Given the description of an element on the screen output the (x, y) to click on. 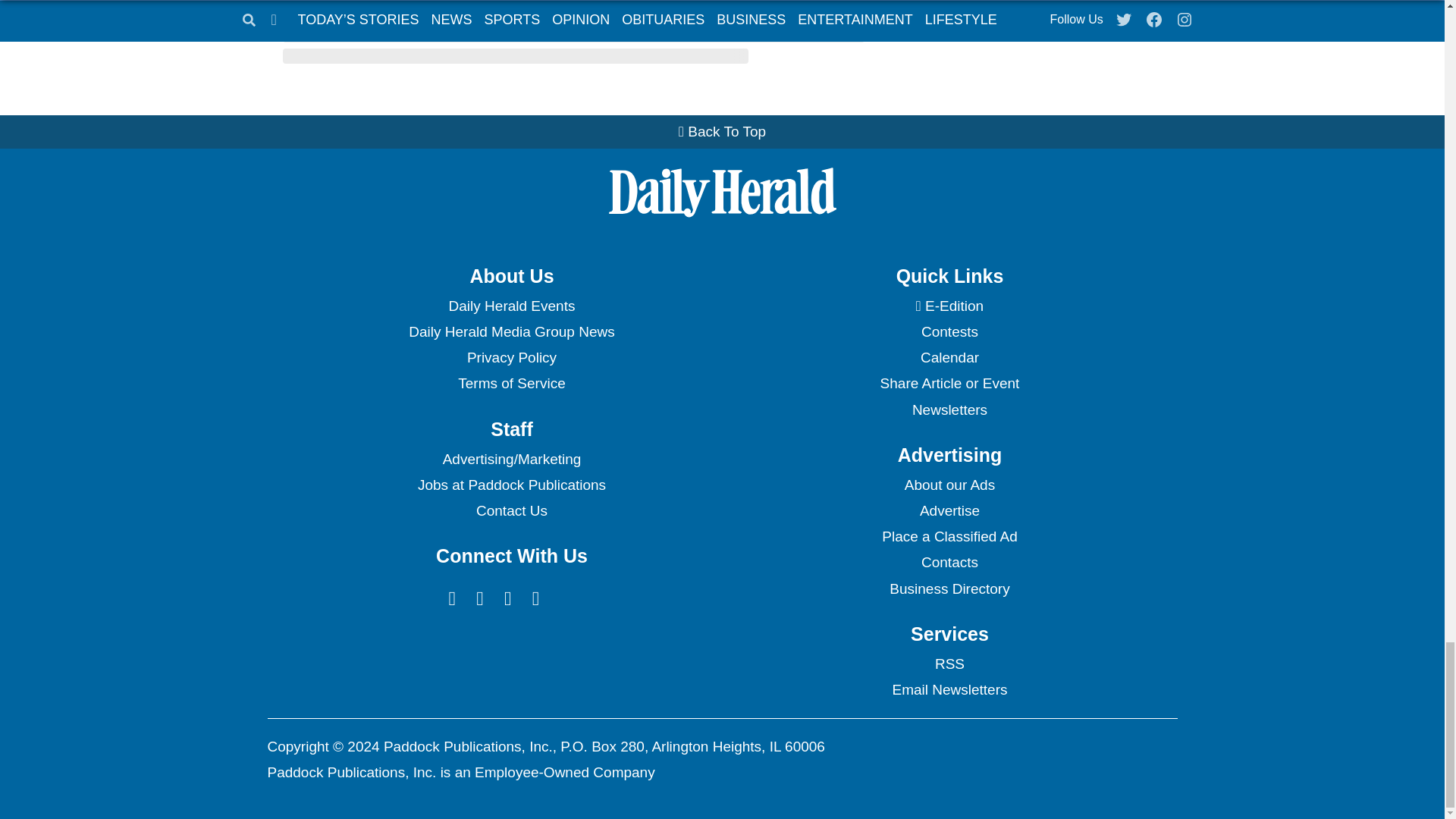
Daily Herald Events (511, 306)
Terms of Service (511, 383)
Privacy Policy (511, 357)
Daily Herald Media Group News (511, 331)
